Given the description of an element on the screen output the (x, y) to click on. 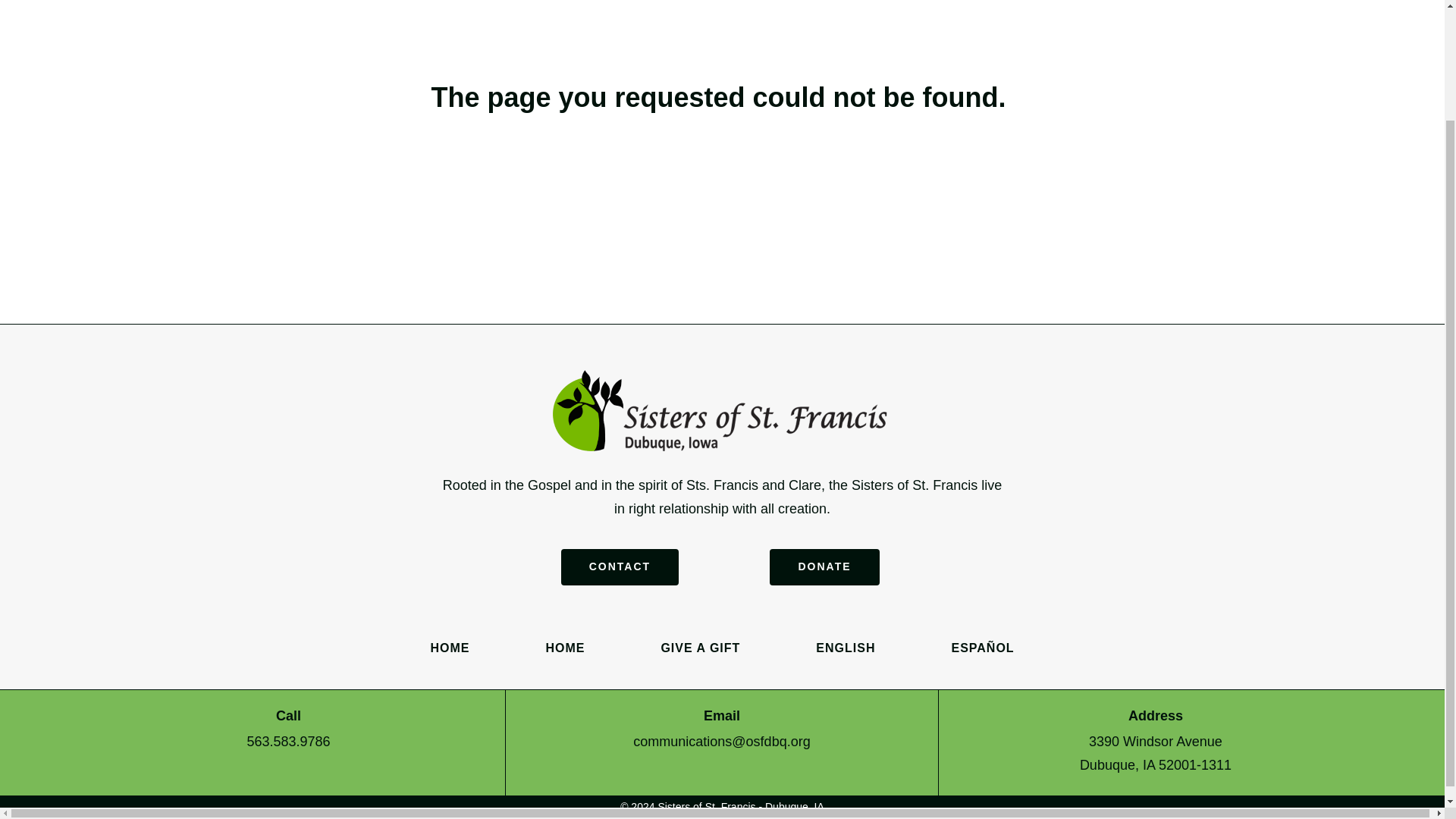
Sisters of St. Francis Logo (722, 411)
HOME (448, 647)
CONTACT (619, 566)
GIVE A GIFT (700, 647)
ENGLISH (845, 647)
DONATE (824, 566)
English (845, 647)
563.583.9786 (288, 741)
Spanish (981, 647)
HOME (564, 647)
